Given the description of an element on the screen output the (x, y) to click on. 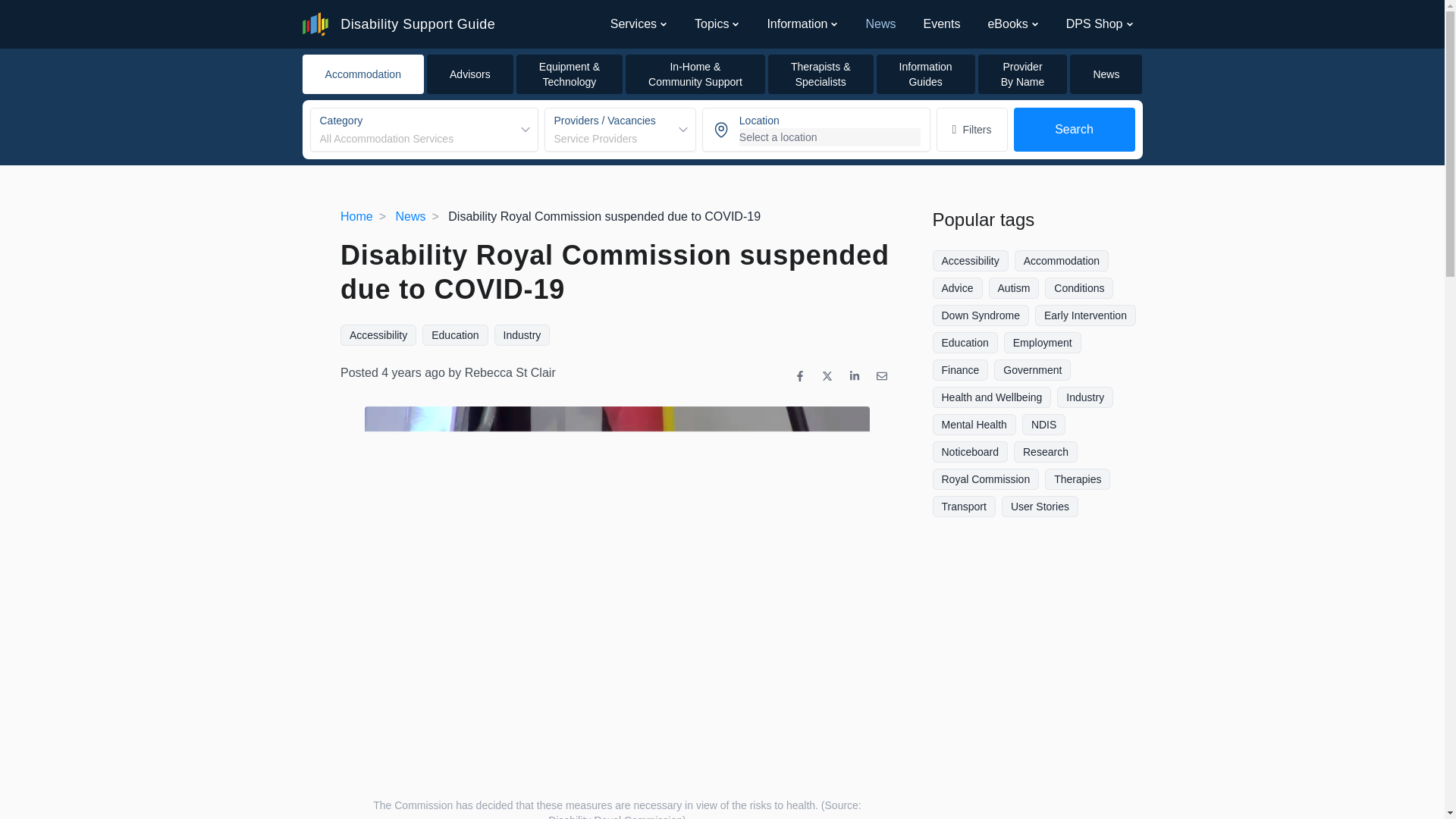
News (879, 24)
Industry (522, 334)
Location (815, 129)
News (1022, 74)
Accommodation (409, 215)
News (362, 74)
Topics (1105, 74)
eBooks (711, 24)
Accessibility (1007, 24)
Disability Support Guide (422, 129)
Events (378, 334)
Search (398, 24)
